Given the description of an element on the screen output the (x, y) to click on. 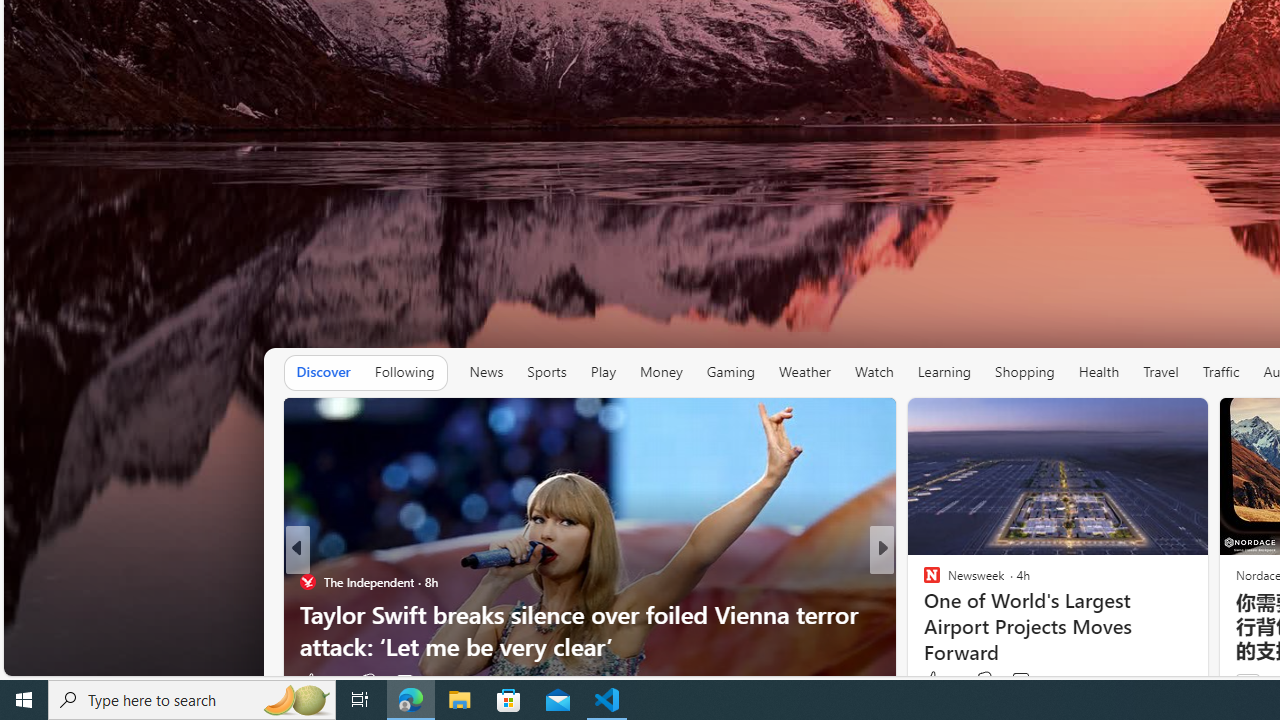
View comments 20 Comment (1022, 681)
162 Like (936, 681)
View comments 33 Comment (413, 681)
Variety (923, 581)
View comments 65 Comment (1019, 681)
85 Like (934, 681)
